Given the description of an element on the screen output the (x, y) to click on. 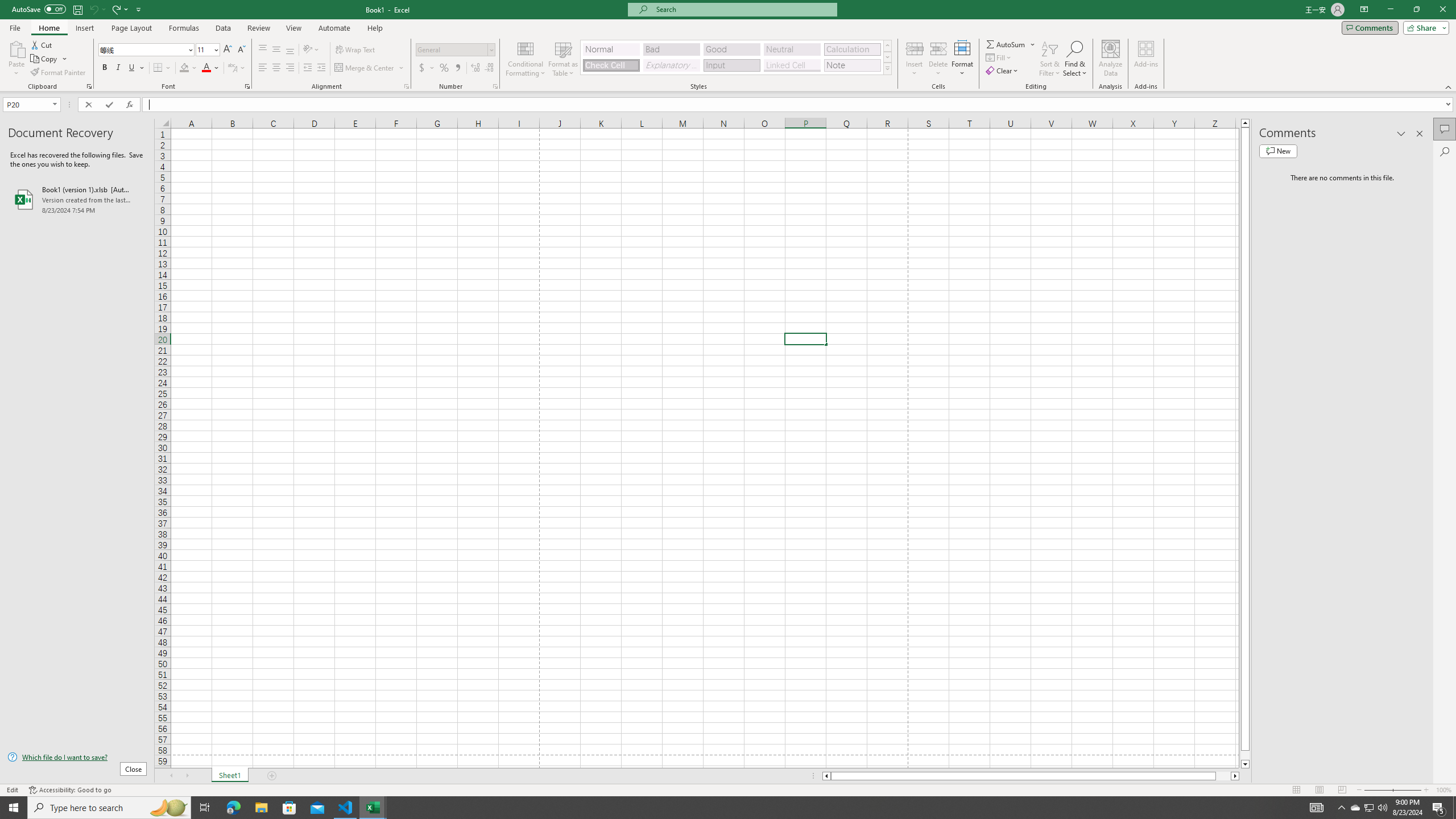
Increase Decimal (474, 67)
Italic (118, 67)
Align Left (262, 67)
Neutral (791, 49)
Input (731, 65)
Number Format (455, 49)
Accounting Number Format (426, 67)
